Given the description of an element on the screen output the (x, y) to click on. 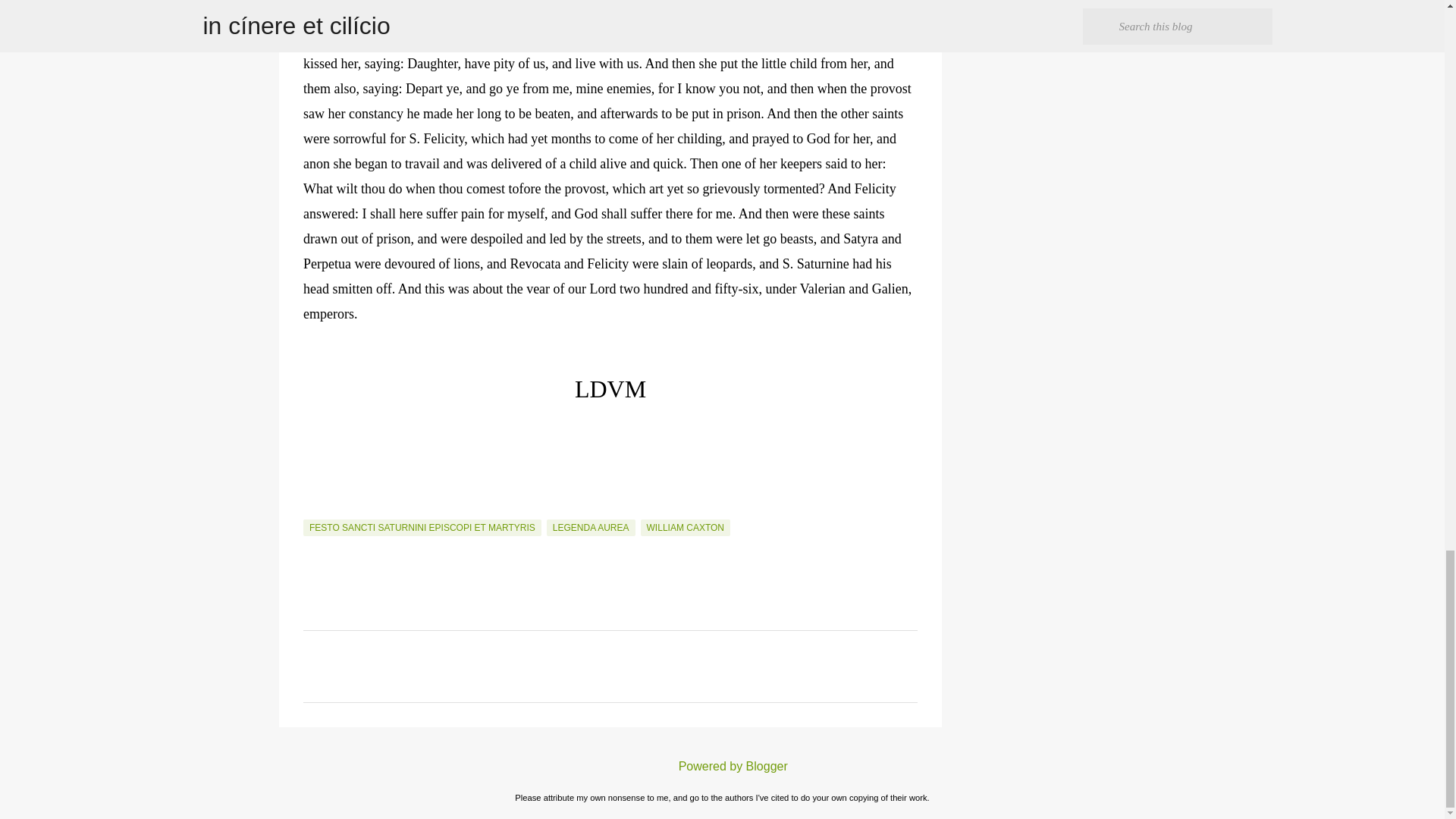
FESTO SANCTI SATURNINI EPISCOPI ET MARTYRIS (421, 527)
LEGENDA AUREA (590, 527)
WILLIAM CAXTON (685, 527)
Powered by Blogger (721, 766)
